Given the description of an element on the screen output the (x, y) to click on. 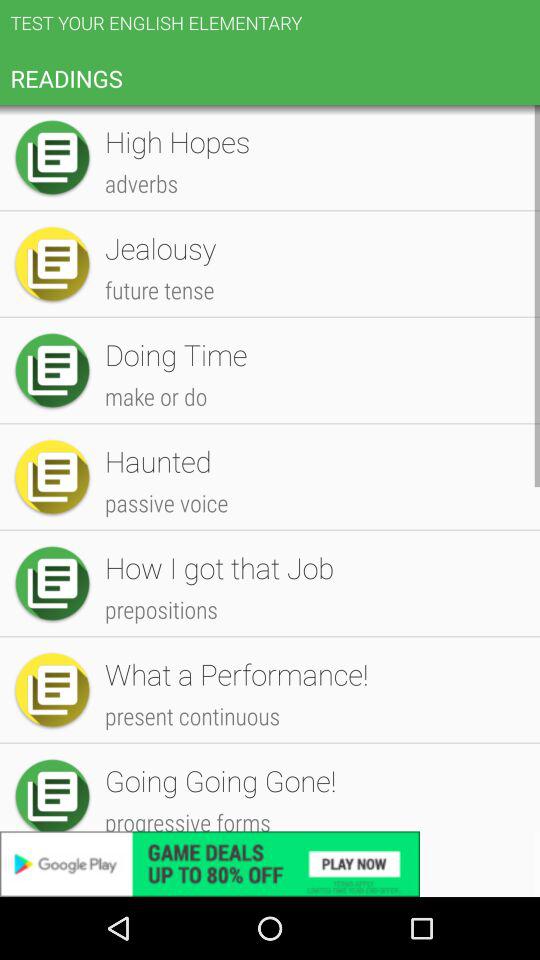
press all tests icon (311, 143)
